Given the description of an element on the screen output the (x, y) to click on. 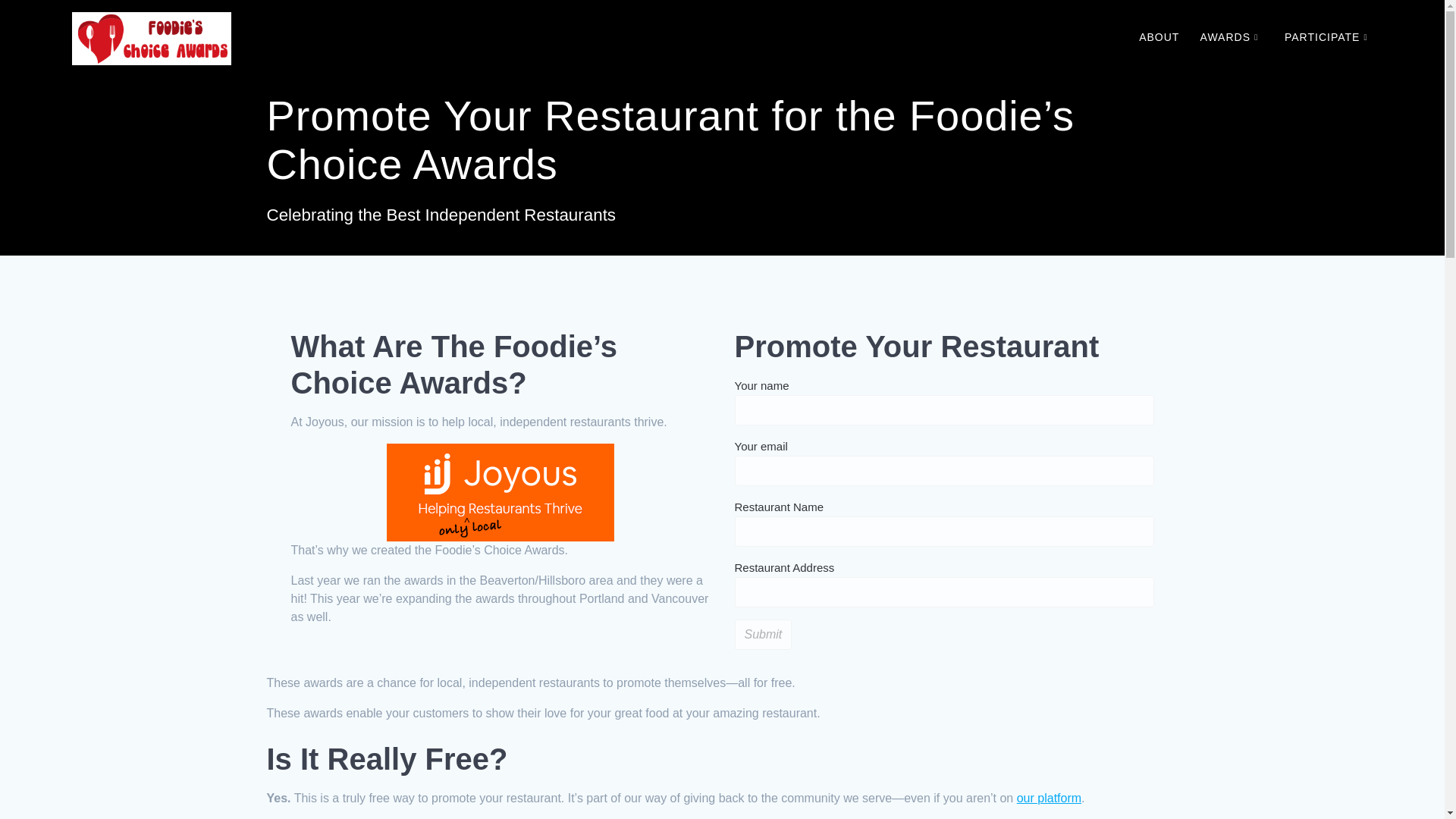
AWARDS (1231, 37)
PARTICIPATE (1328, 37)
Submit (762, 634)
ABOUT (1158, 37)
Submit (762, 634)
our platform (1048, 797)
